Given the description of an element on the screen output the (x, y) to click on. 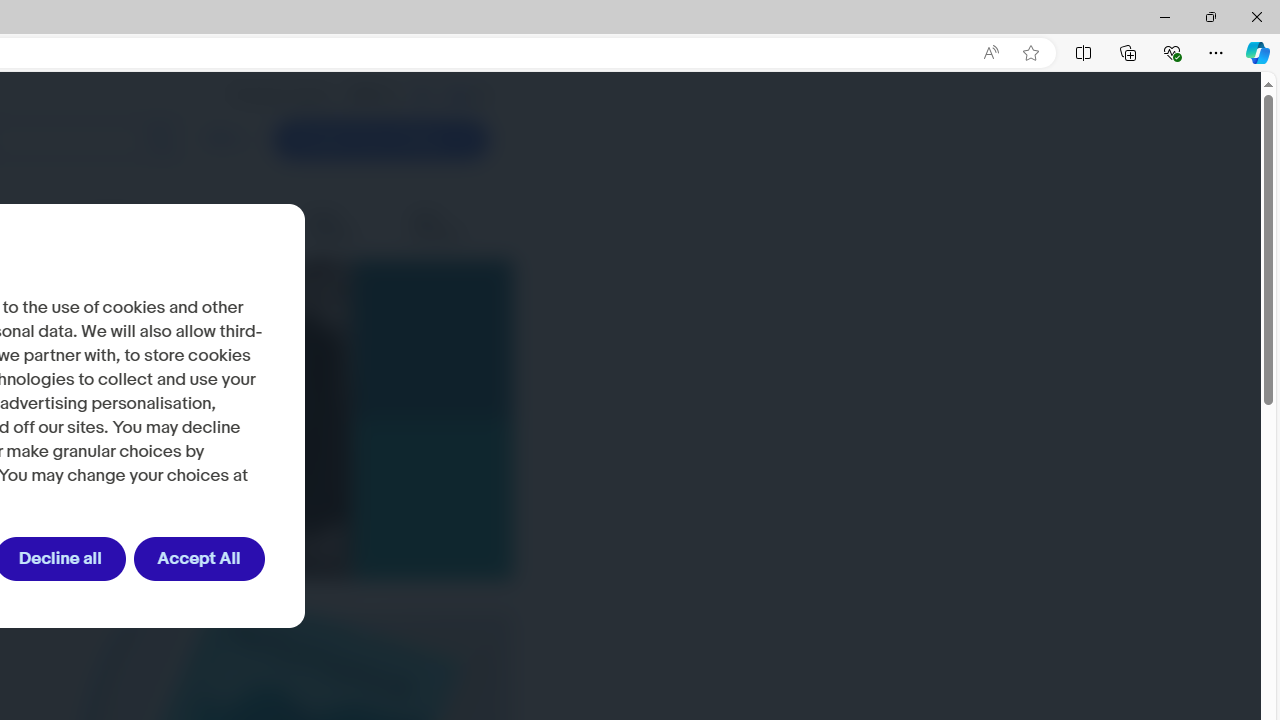
Class: header__toplink-icon (480, 95)
Marketing (250, 226)
Create Your Listing (380, 139)
Accept All (198, 559)
Seller updates (345, 225)
Class: search-input__btn (160, 139)
IN (421, 95)
